Given the description of an element on the screen output the (x, y) to click on. 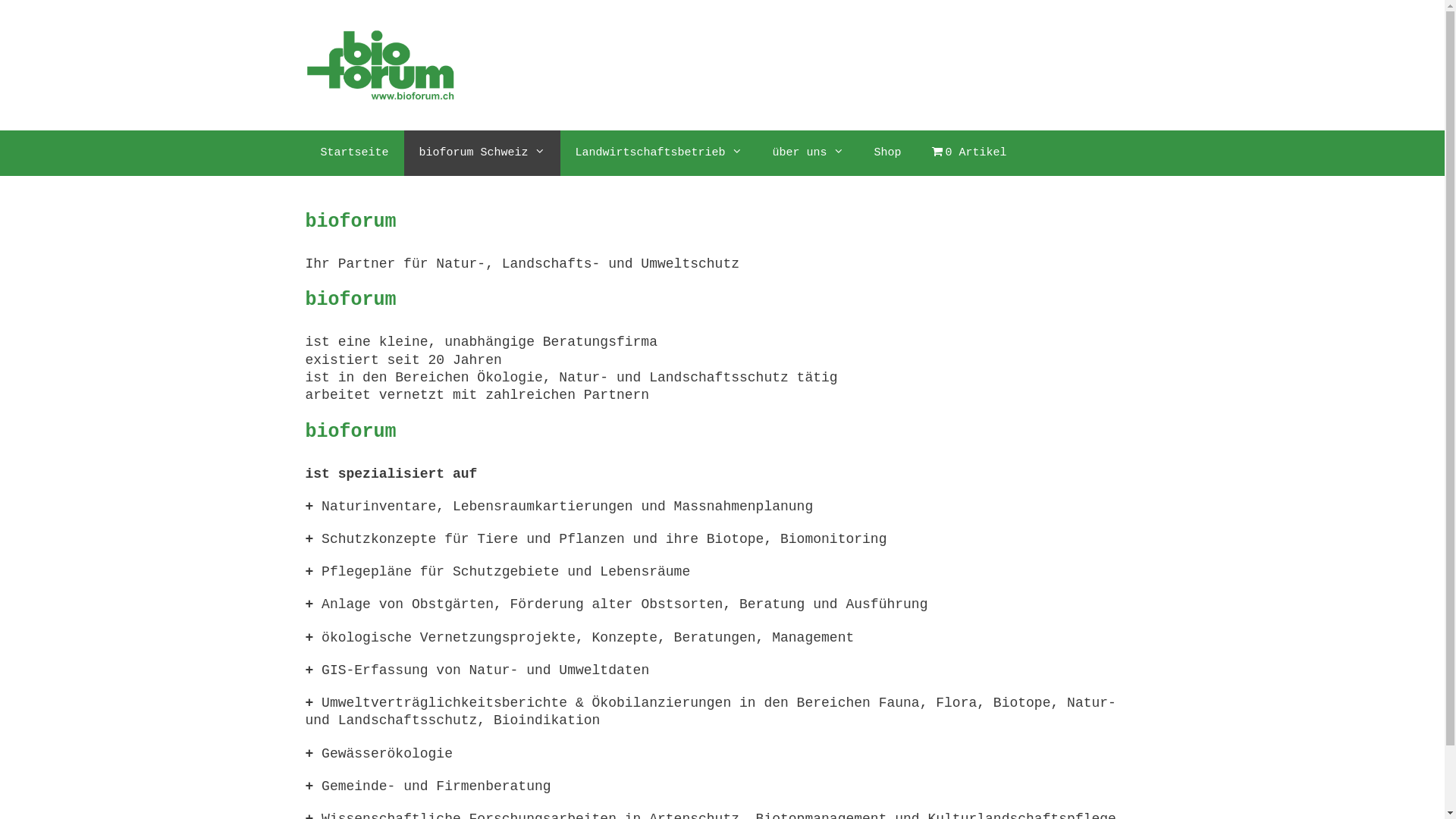
0 Artikel Element type: text (969, 152)
bioforum Element type: hover (380, 64)
Startseite Element type: text (353, 152)
Shop Element type: text (887, 152)
bioforum Element type: hover (380, 65)
bioforum Schweiz Element type: text (482, 152)
Landwirtschaftsbetrieb Element type: text (658, 152)
